Given the description of an element on the screen output the (x, y) to click on. 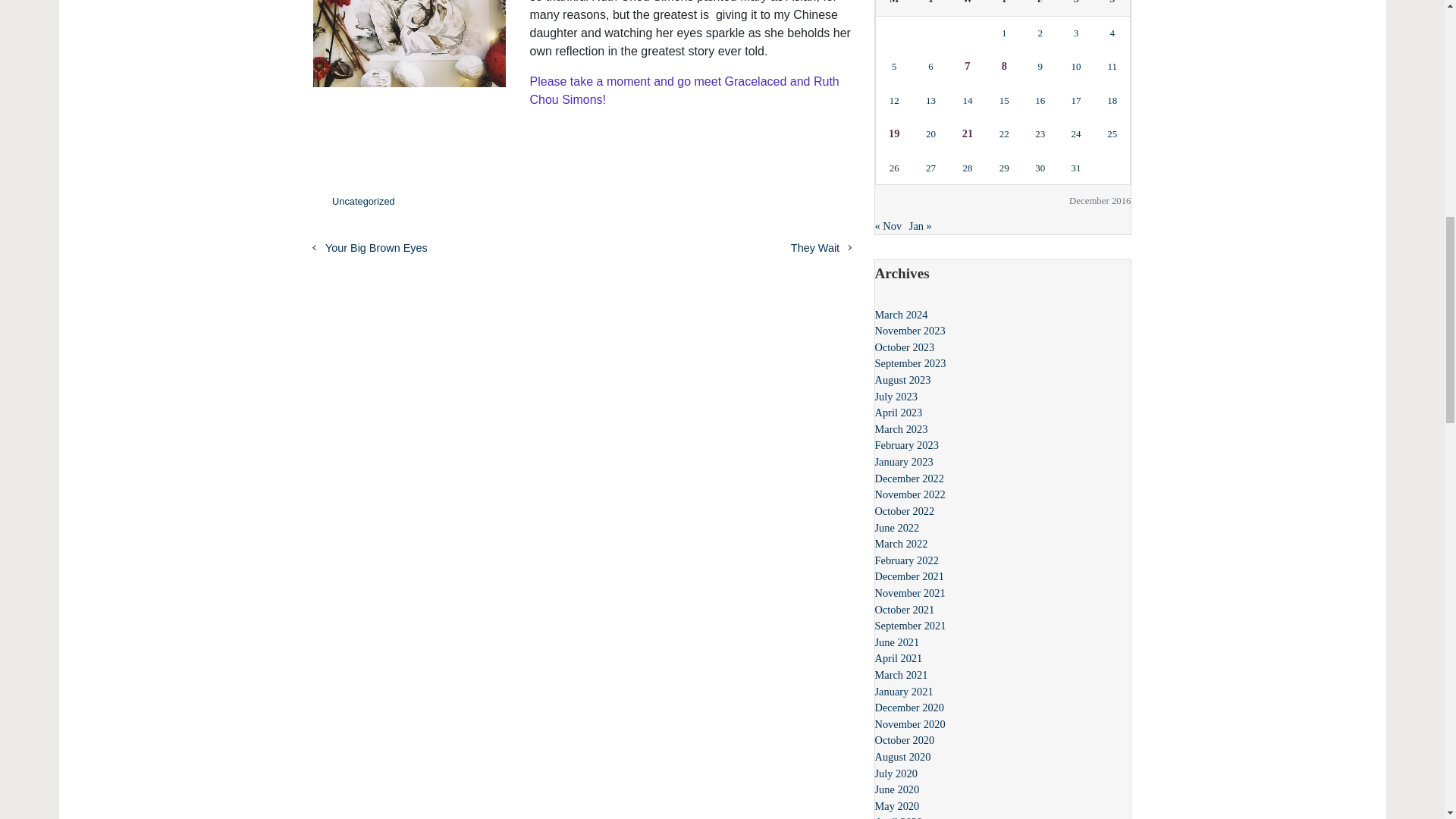
Thursday (1004, 8)
Saturday (1075, 8)
Your Big Brown Eyes (369, 247)
Monday (893, 8)
Wednesday (967, 8)
Friday (1040, 8)
They Wait (820, 247)
Uncategorized (362, 201)
Tuesday (930, 8)
